Given the description of an element on the screen output the (x, y) to click on. 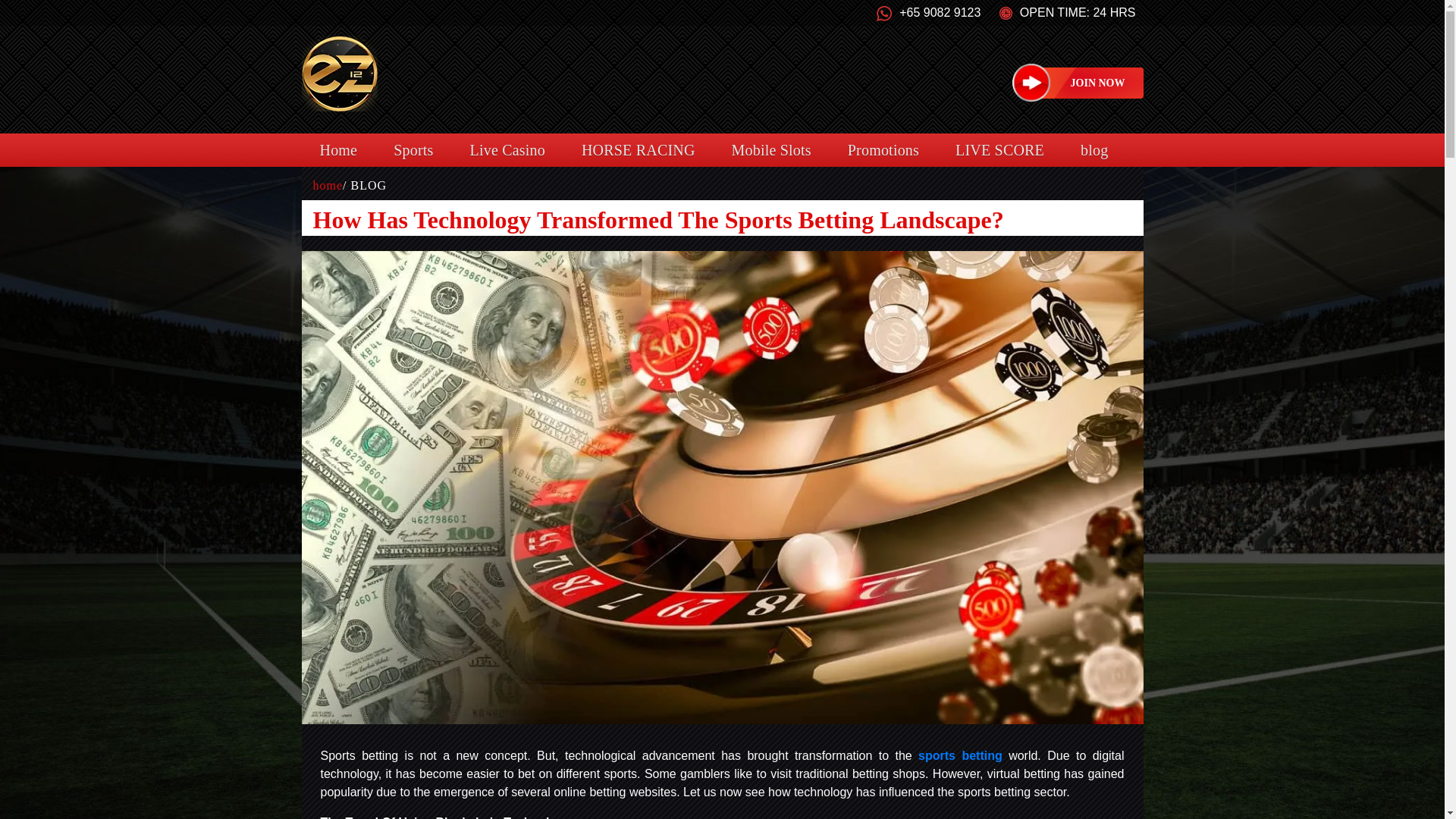
Home (338, 150)
LIVE SCORE (999, 150)
Mobile Slots (771, 150)
Live Casino (507, 150)
blog (1093, 150)
JOIN NOW (1089, 81)
sports betting (960, 755)
HORSE RACING (638, 150)
OPEN TIME: 24 HRS (1066, 11)
Sports (413, 150)
